Given the description of an element on the screen output the (x, y) to click on. 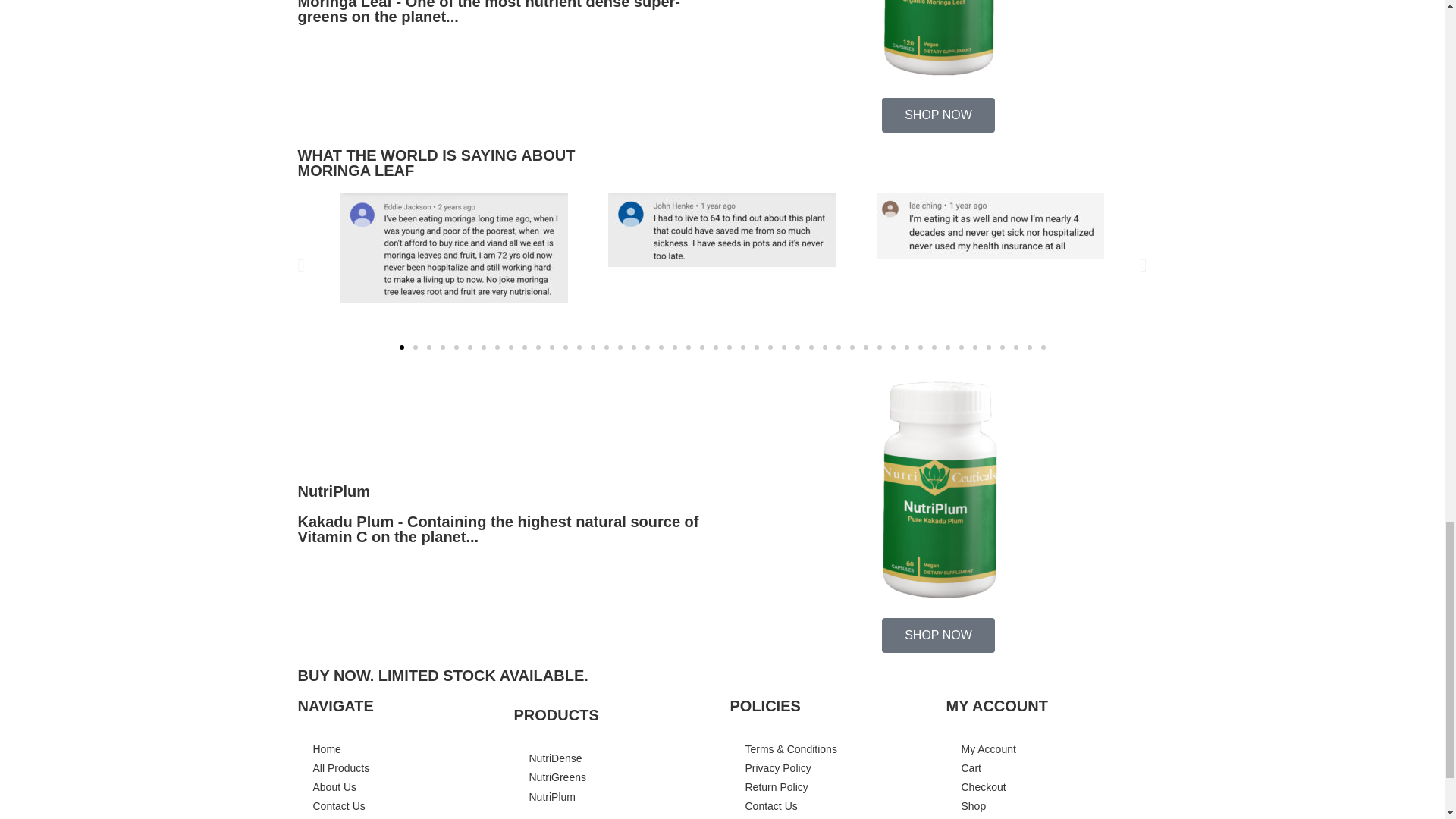
SHOP NOW (938, 114)
All Products (341, 767)
Contact Us (339, 806)
Home (326, 748)
About Us (334, 787)
NutriDense (555, 758)
SHOP NOW (938, 635)
NutriGreens (557, 776)
